Given the description of an element on the screen output the (x, y) to click on. 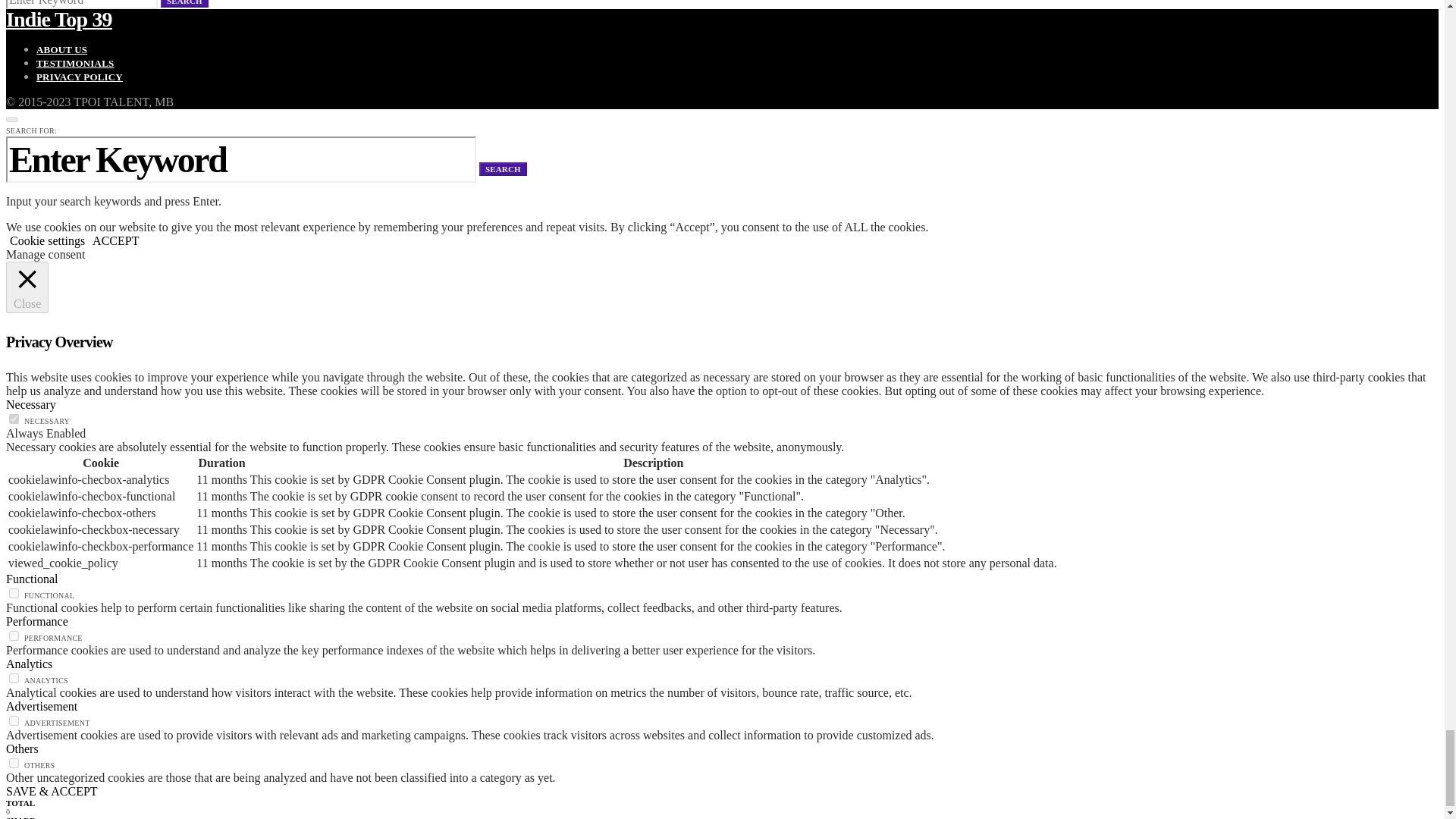
on (13, 419)
on (13, 593)
on (13, 763)
on (13, 635)
on (13, 720)
on (13, 678)
